Given the description of an element on the screen output the (x, y) to click on. 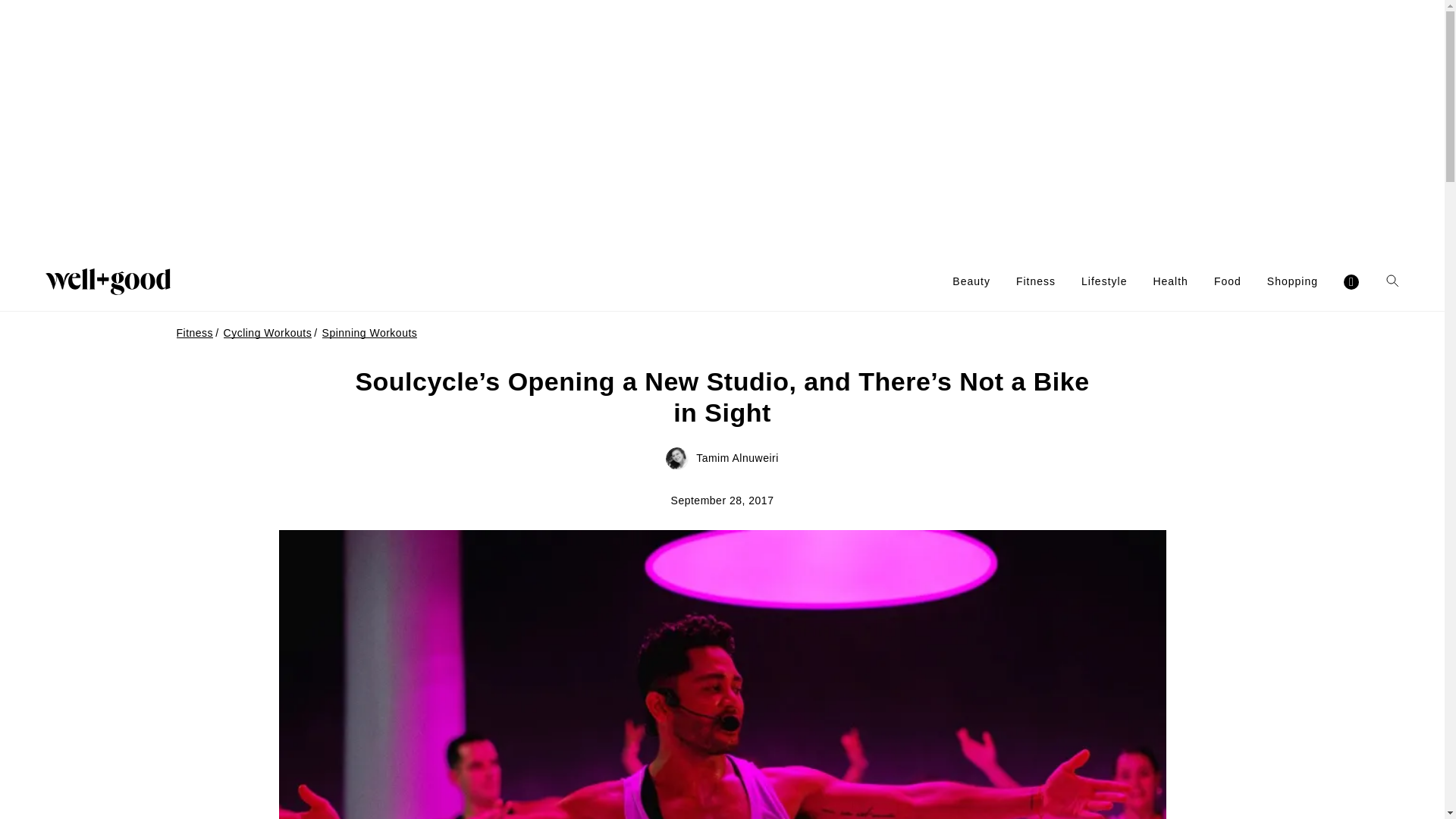
Shopping (1291, 281)
Fitness (1035, 281)
Health (1170, 281)
Beauty (971, 281)
Food (1227, 281)
Lifestyle (1103, 281)
